Given the description of an element on the screen output the (x, y) to click on. 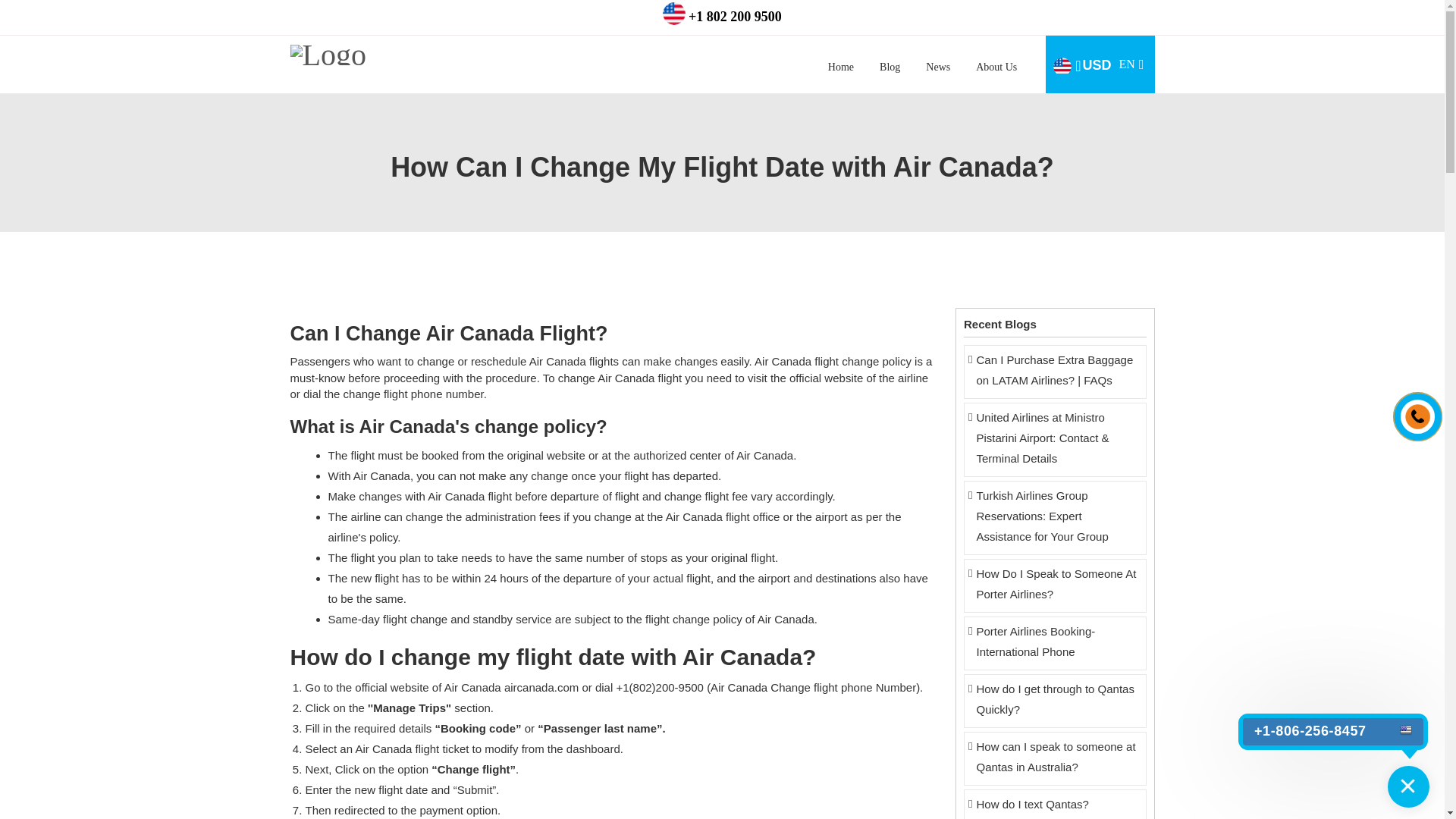
How Do I Speak to Someone At Porter Airlines? (1056, 583)
How do I text Qantas? (1056, 804)
Porter Airlines Booking- International Phone (1101, 64)
Home (1056, 641)
About Us (840, 67)
News (995, 67)
How can I speak to someone at Qantas in Australia? (937, 67)
Blog (1056, 756)
How do I get through to Qantas Quickly? (889, 67)
